Given the description of an element on the screen output the (x, y) to click on. 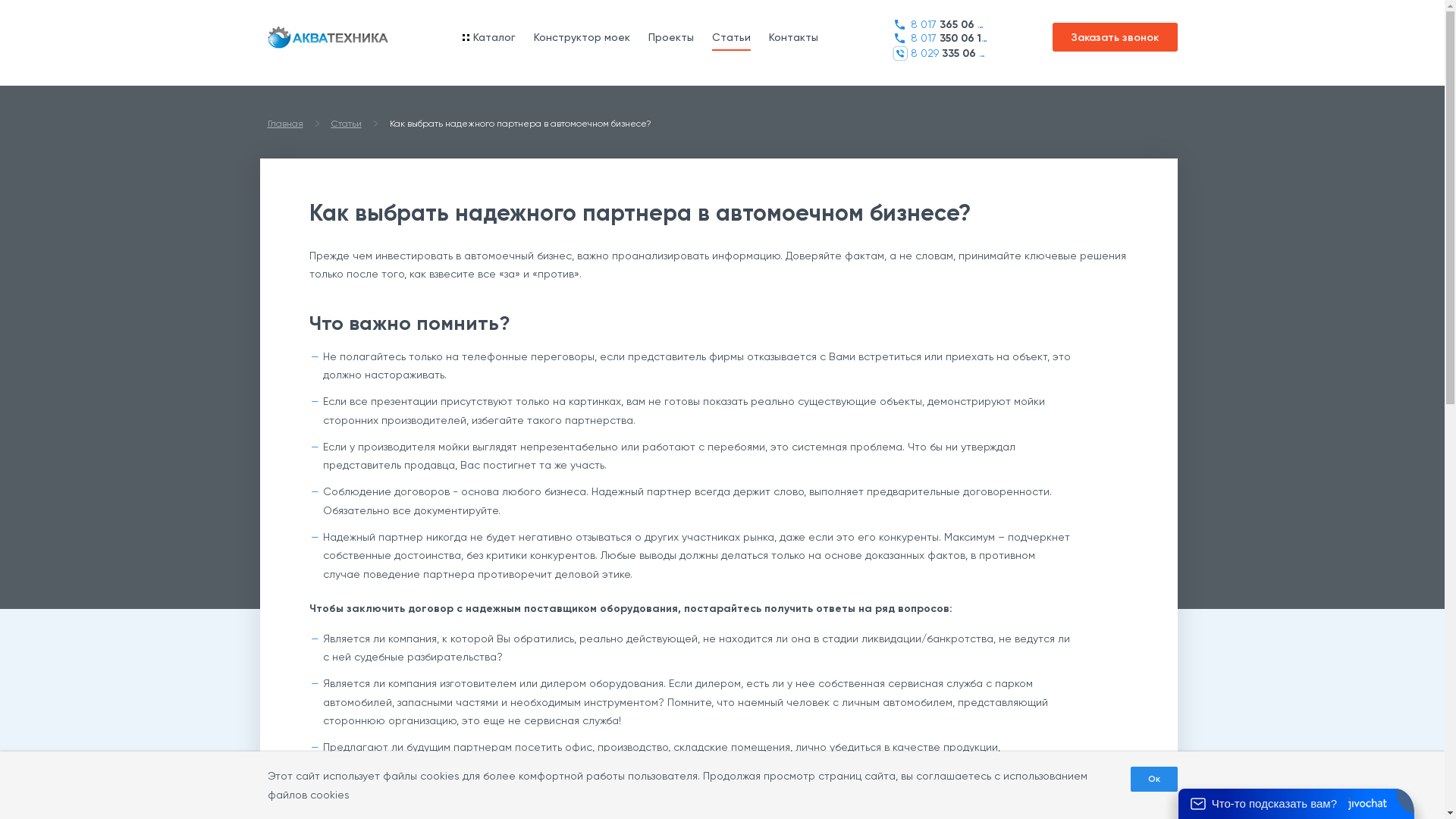
8 017 350 06 16 Element type: text (938, 37)
8 017 365 06 45 Element type: text (938, 24)
8 029 335 06 01 Element type: text (938, 53)
